Given the description of an element on the screen output the (x, y) to click on. 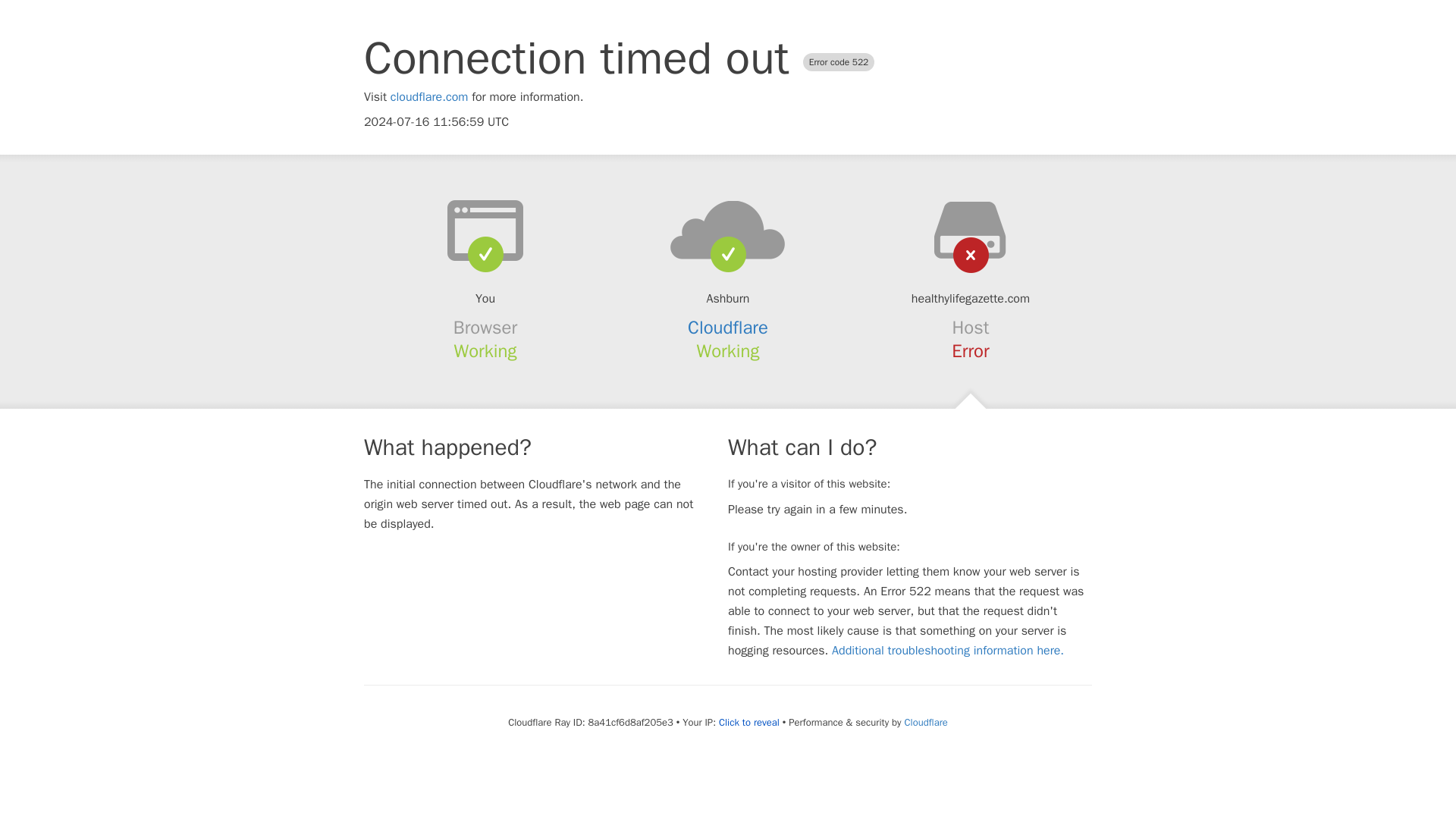
Additional troubleshooting information here. (947, 650)
Cloudflare (925, 721)
cloudflare.com (429, 96)
Cloudflare (727, 327)
Click to reveal (748, 722)
